Given the description of an element on the screen output the (x, y) to click on. 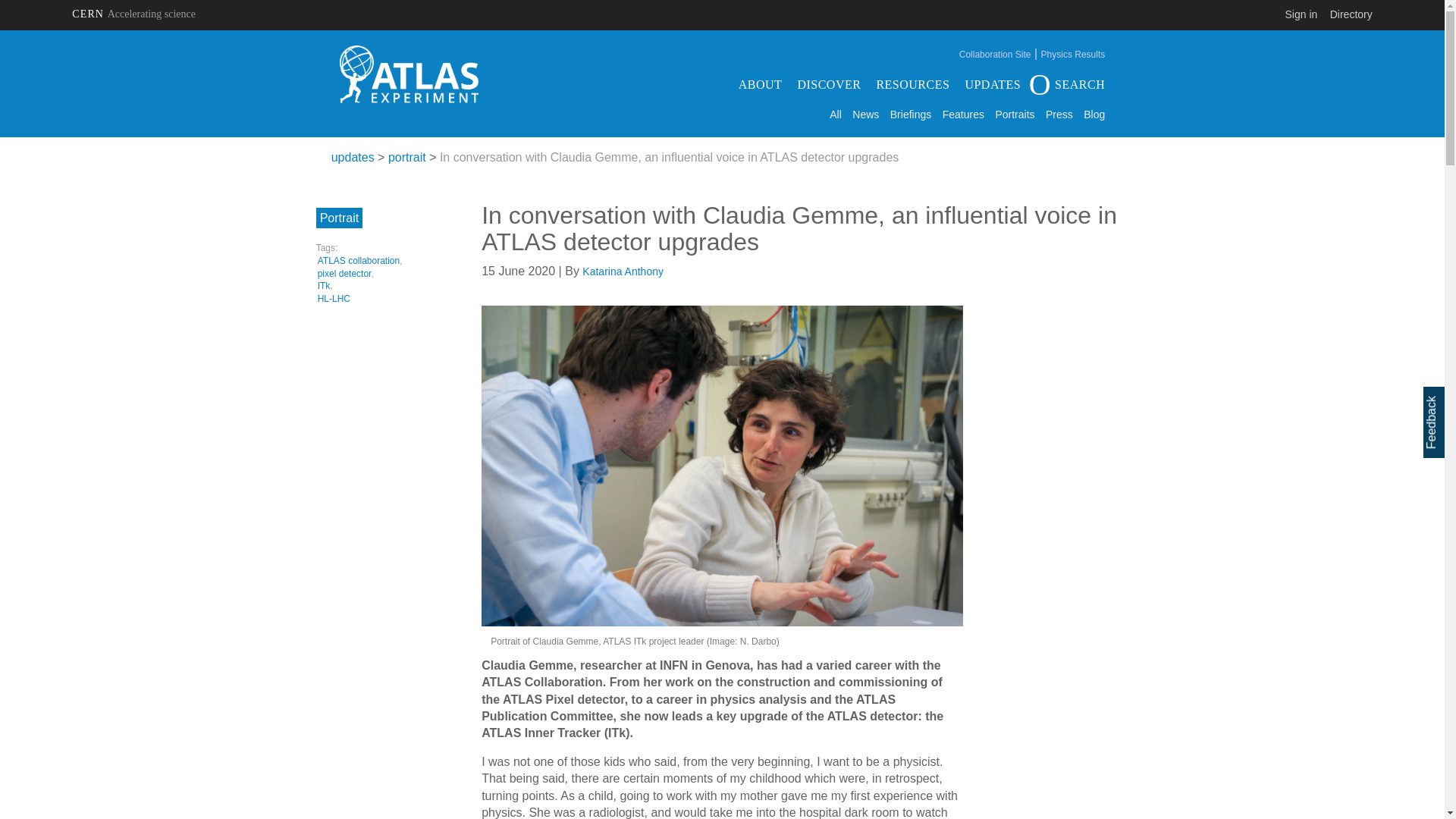
Portraits (1013, 114)
SEARCH (1070, 84)
RESOURCES (912, 84)
Sign in (1301, 14)
Search CERN resources and browse the directory (1350, 14)
ABOUT (760, 84)
ATLAS News (865, 114)
News (865, 114)
Home (409, 74)
DISCOVER (828, 84)
CERN Accelerating science (133, 14)
Physics Results (1073, 54)
Collaboration Site (994, 54)
Directory (1350, 14)
